Given the description of an element on the screen output the (x, y) to click on. 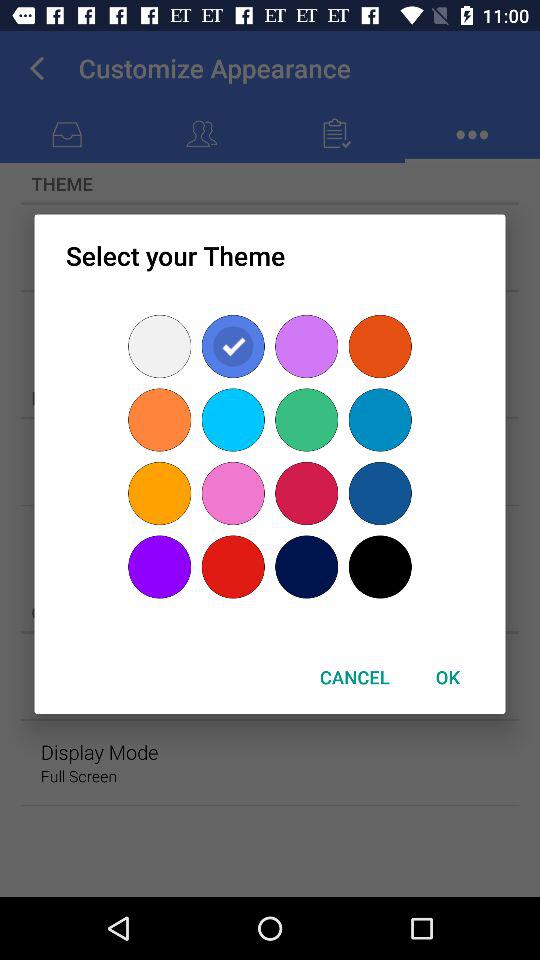
turn on item to the right of the cancel item (447, 676)
